Given the description of an element on the screen output the (x, y) to click on. 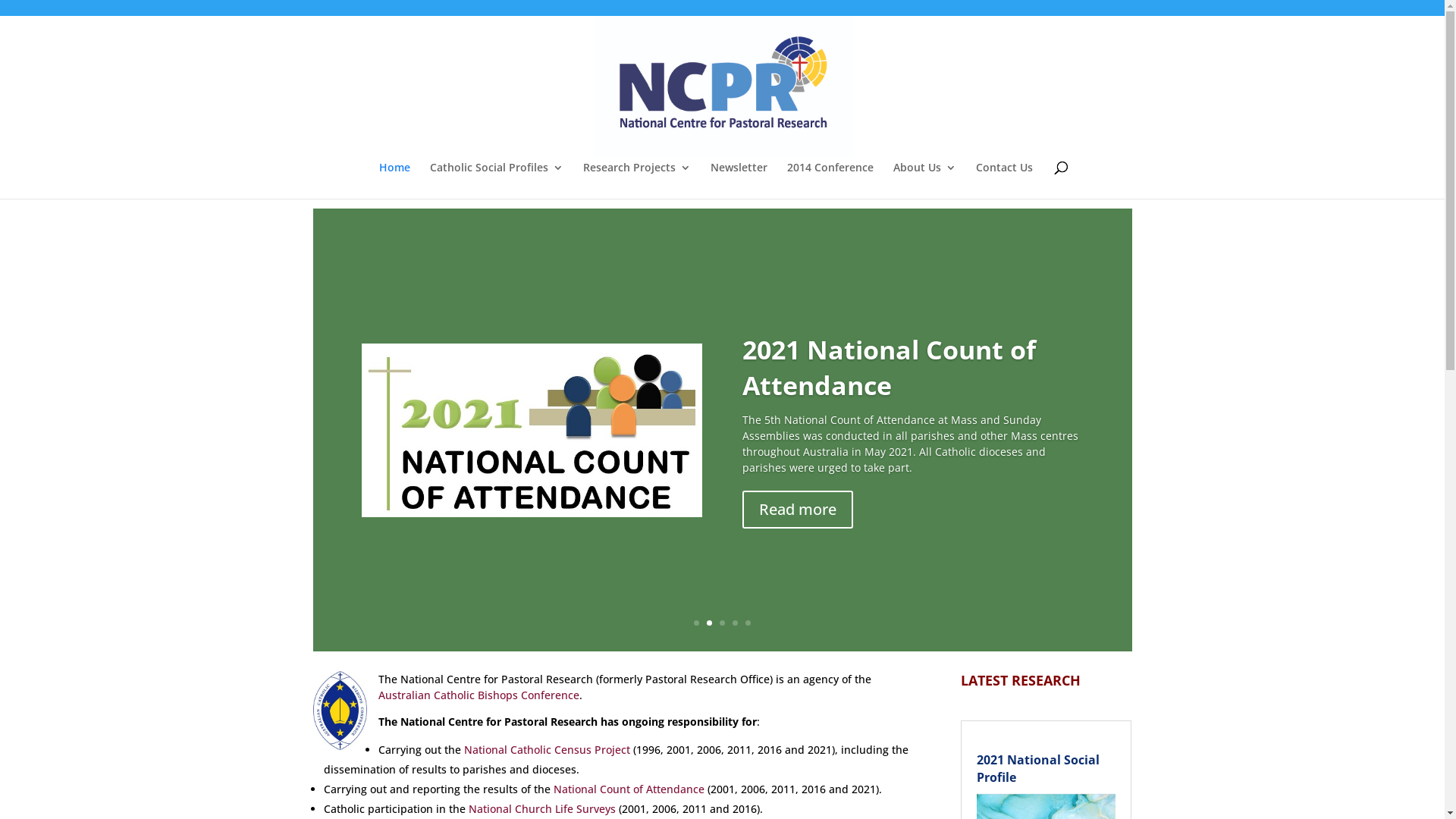
National Church Life Surveys Element type: text (541, 808)
Home Element type: text (394, 180)
2014 Conference Element type: text (830, 180)
2 Element type: text (709, 622)
Newsletter Element type: text (737, 180)
National Count of Attendance Element type: text (628, 788)
Contact Us Element type: text (1003, 180)
1 Element type: text (696, 622)
4 Element type: text (734, 622)
5 Element type: text (747, 622)
3 Element type: text (721, 622)
Catholic Social Profiles Element type: text (495, 180)
Read more Element type: text (797, 550)
Research Projects Element type: text (636, 180)
2021 National Count of Attendance Element type: text (888, 409)
2021 National Social Profile Element type: text (1037, 767)
About Us Element type: text (924, 180)
National Catholic Census Project Element type: text (548, 749)
Australian Catholic Bishops Conference Element type: text (477, 694)
